Given the description of an element on the screen output the (x, y) to click on. 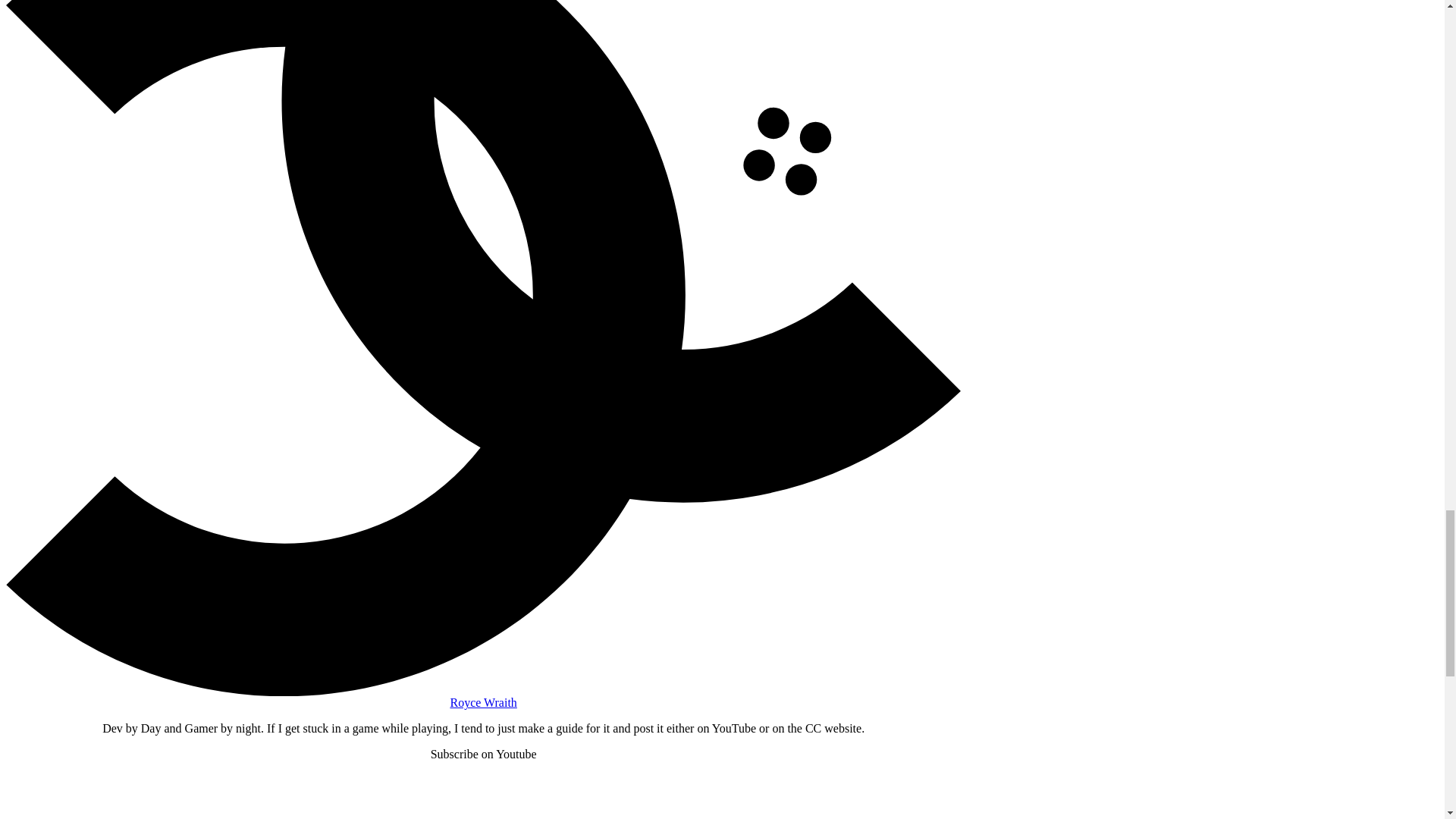
Royce Wraith (482, 703)
